Given the description of an element on the screen output the (x, y) to click on. 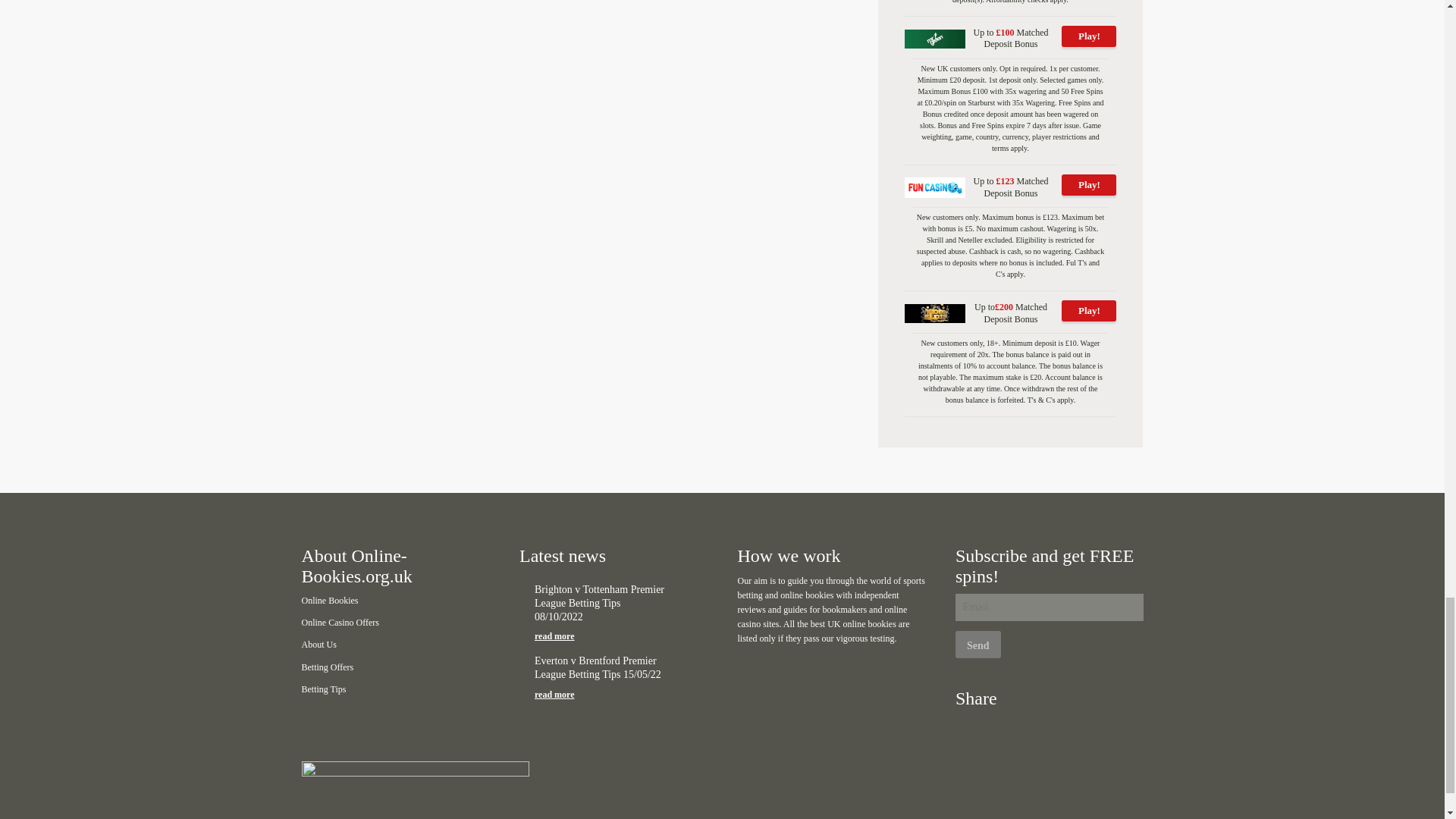
Send (978, 644)
